Given the description of an element on the screen output the (x, y) to click on. 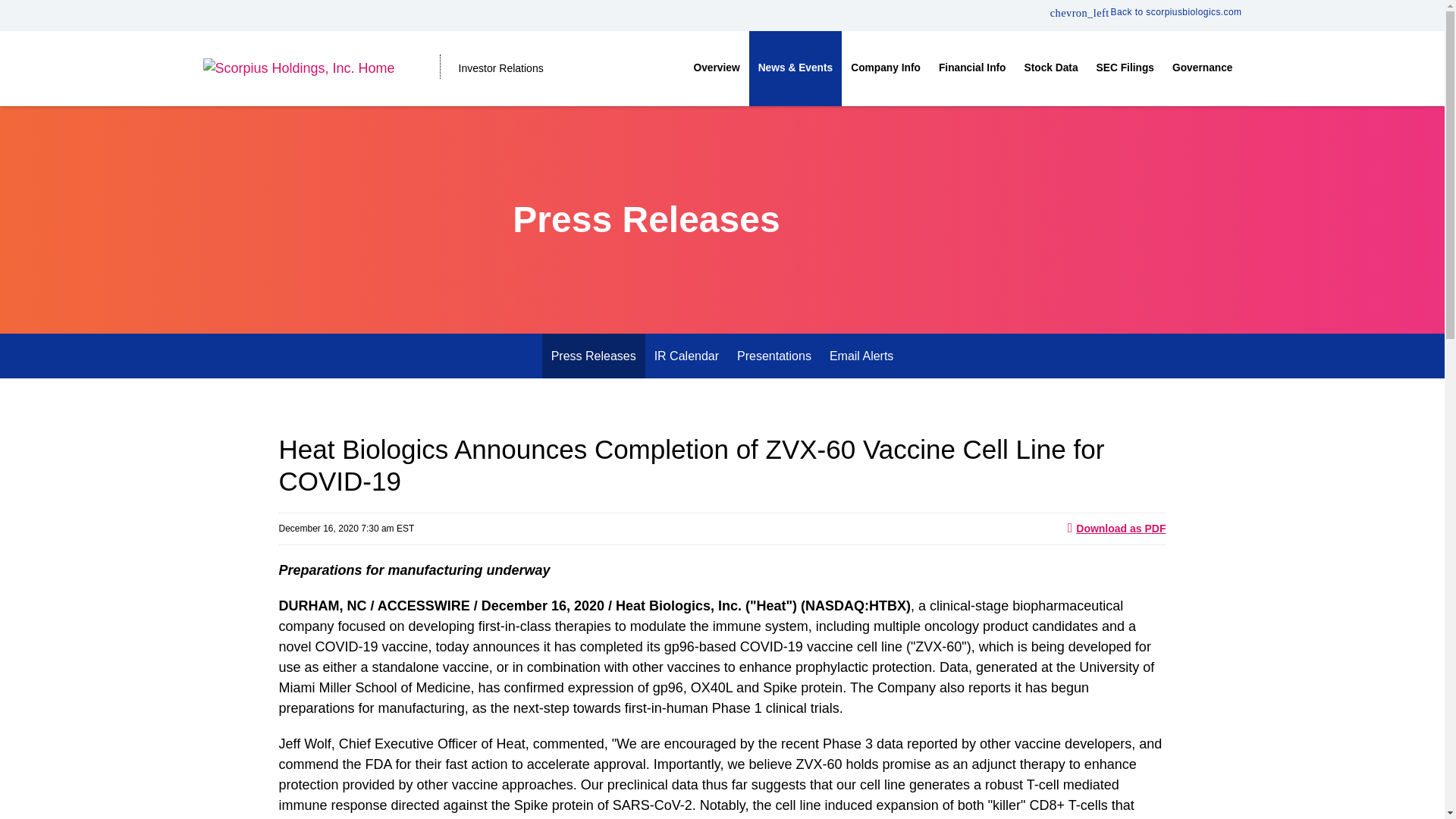
Press Releases (593, 355)
Company Info (885, 68)
Stock Data (1050, 68)
SEC Filings (1125, 68)
Governance (1202, 68)
IR Calendar (686, 355)
Back to scorpiusbiologics.com (1145, 10)
Presentations (774, 355)
Financial Info (972, 68)
